Given the description of an element on the screen output the (x, y) to click on. 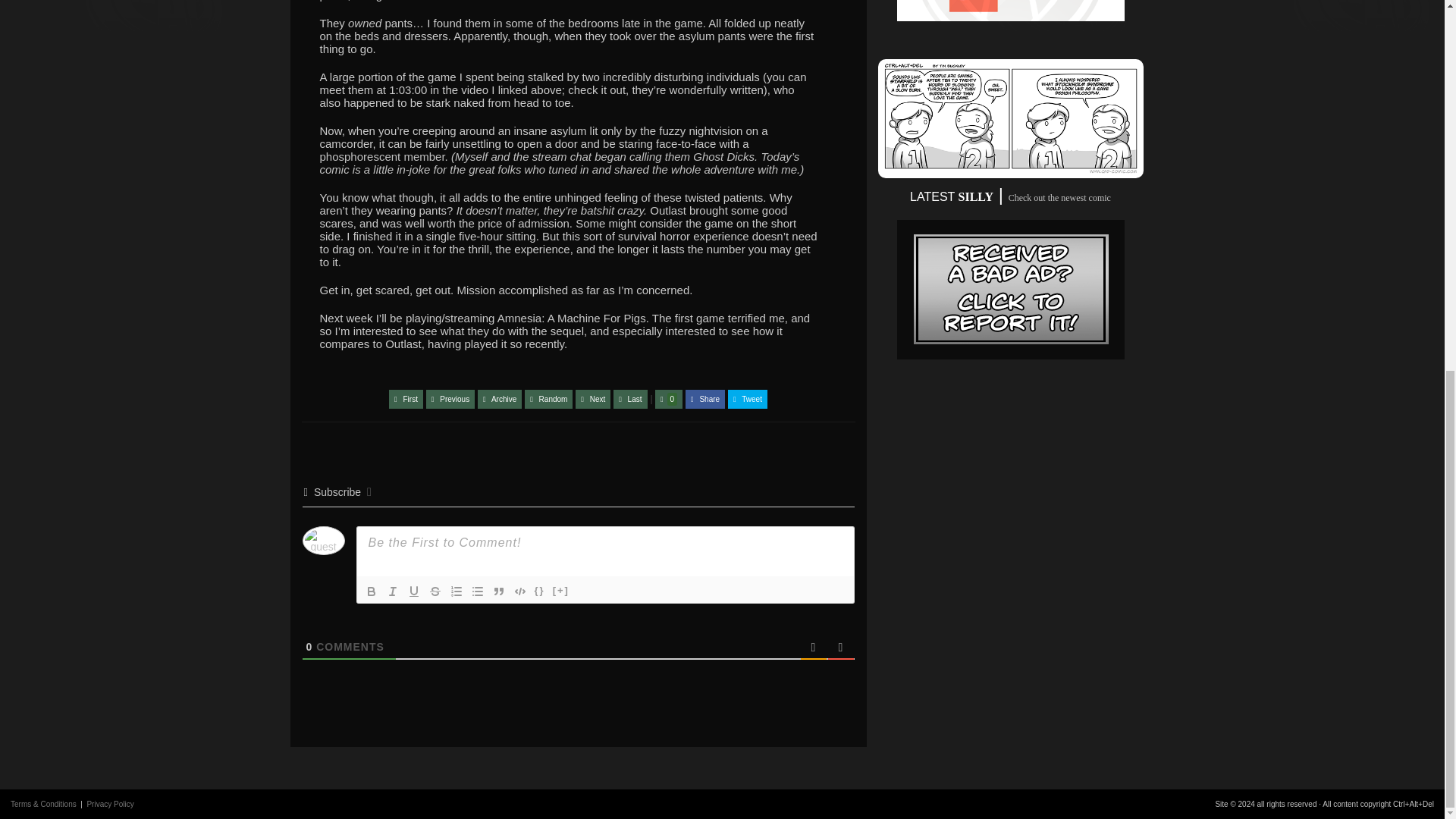
Underline (414, 591)
Blockquote (498, 591)
Italic (392, 591)
Bold (371, 591)
Source Code (539, 591)
Unordered List (477, 591)
Strike (435, 591)
Code Block (520, 591)
Spoiler (560, 591)
Ordered List (456, 591)
